Given the description of an element on the screen output the (x, y) to click on. 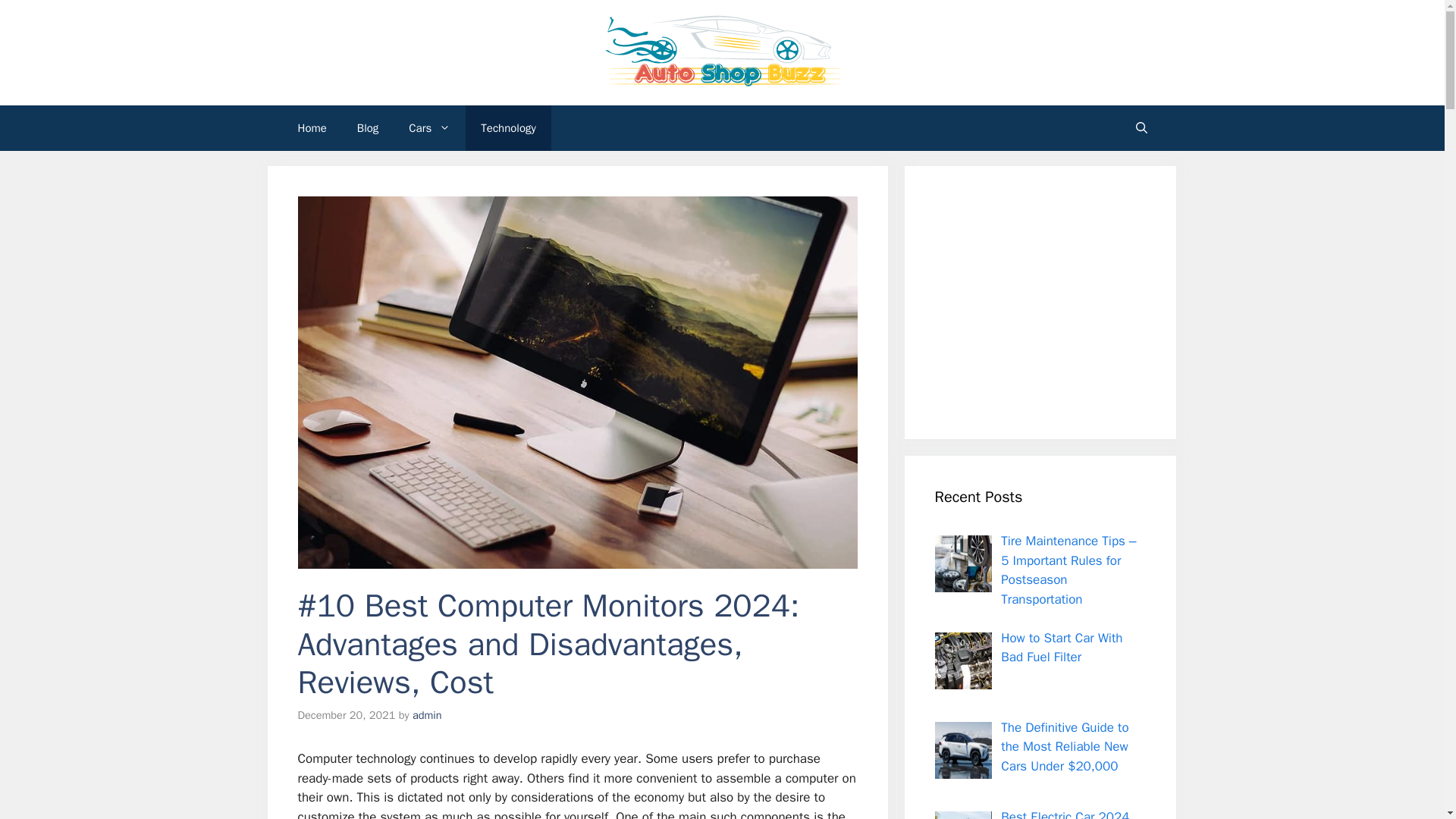
Cars (429, 127)
Technology (508, 127)
admin (427, 714)
Home (311, 127)
Blog (367, 127)
How to Start Car With Bad Fuel Filter (1061, 647)
View all posts by admin (427, 714)
